Given the description of an element on the screen output the (x, y) to click on. 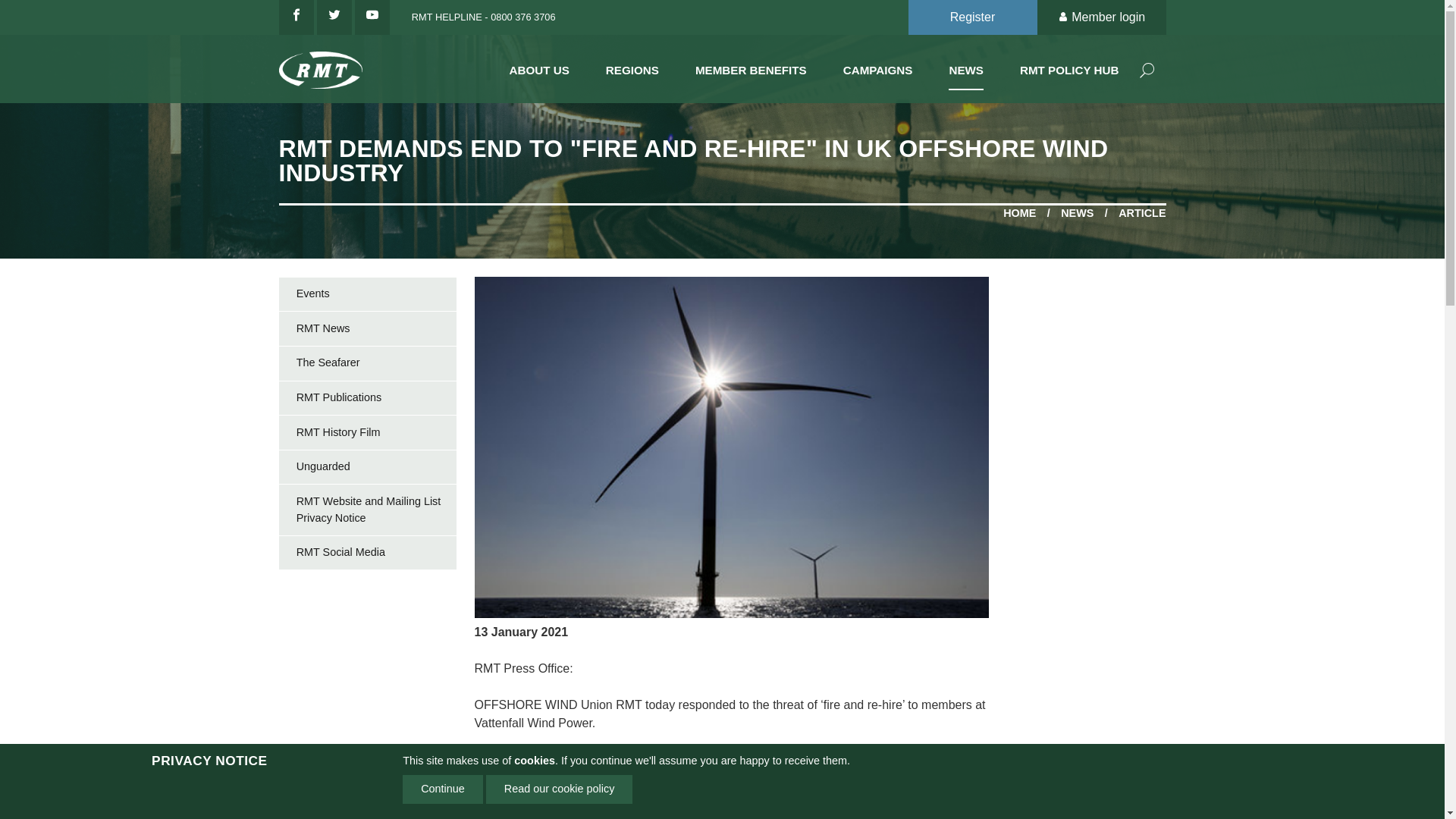
Follow us on Twitter (334, 17)
MEMBER BENEFITS (750, 67)
Continue (443, 788)
HOME (1019, 213)
ABOUT US (539, 67)
user (1064, 17)
Read our cookie policy (559, 788)
REGIONS (632, 67)
RMT POLICY HUB (1069, 67)
RMT HELPLINE - 0800 376 3706 (479, 16)
NEWS (1077, 213)
Like us on Facebook (296, 17)
Register (972, 17)
See our channel on YouTube (372, 17)
Member login (1101, 17)
